Given the description of an element on the screen output the (x, y) to click on. 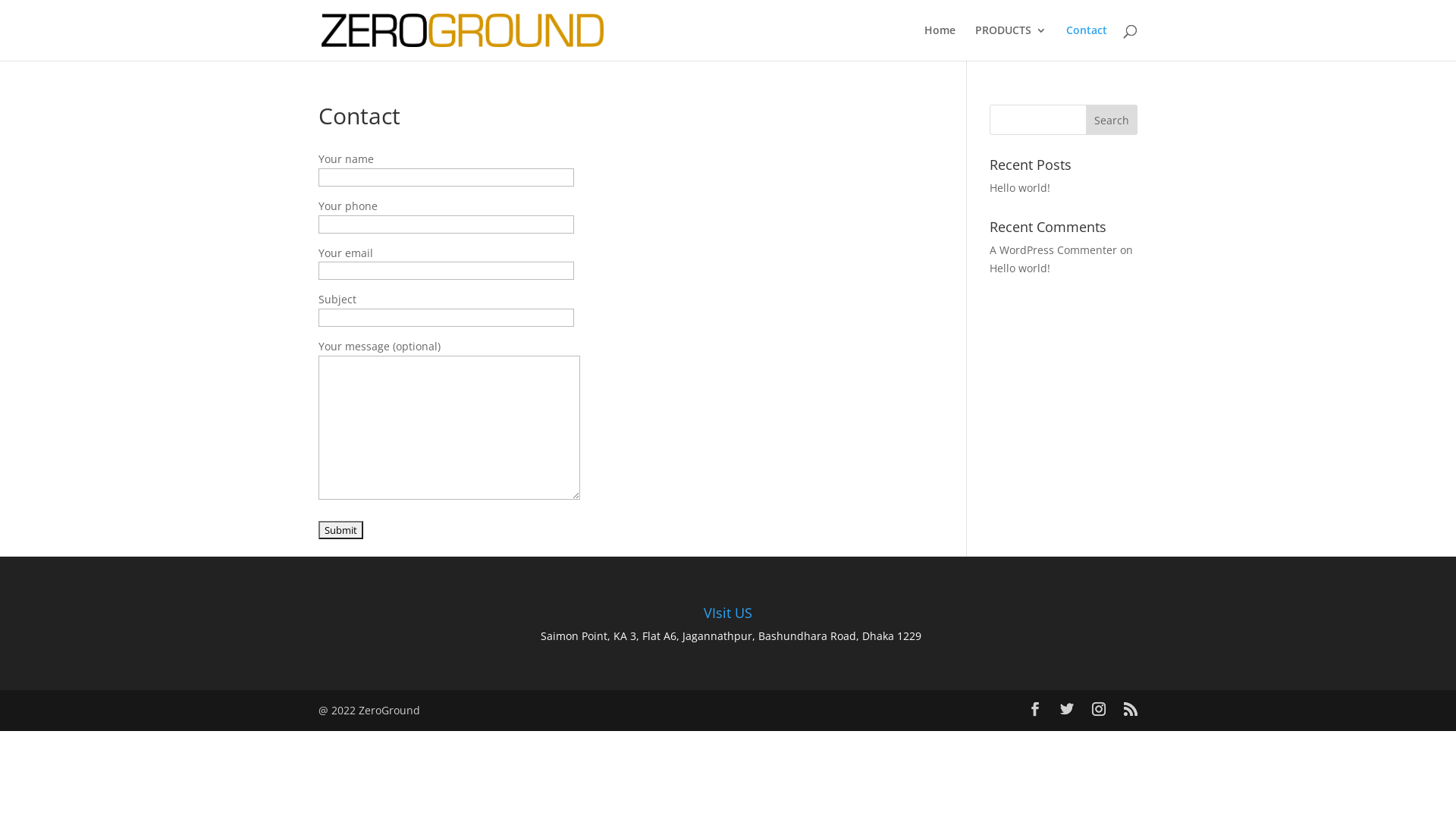
Hello world! Element type: text (1019, 267)
Hello world! Element type: text (1019, 187)
Search Element type: text (1111, 119)
PRODUCTS Element type: text (1010, 42)
Submit Element type: text (340, 529)
A WordPress Commenter Element type: text (1053, 249)
Home Element type: text (939, 42)
Contact Element type: text (1086, 42)
